Given the description of an element on the screen output the (x, y) to click on. 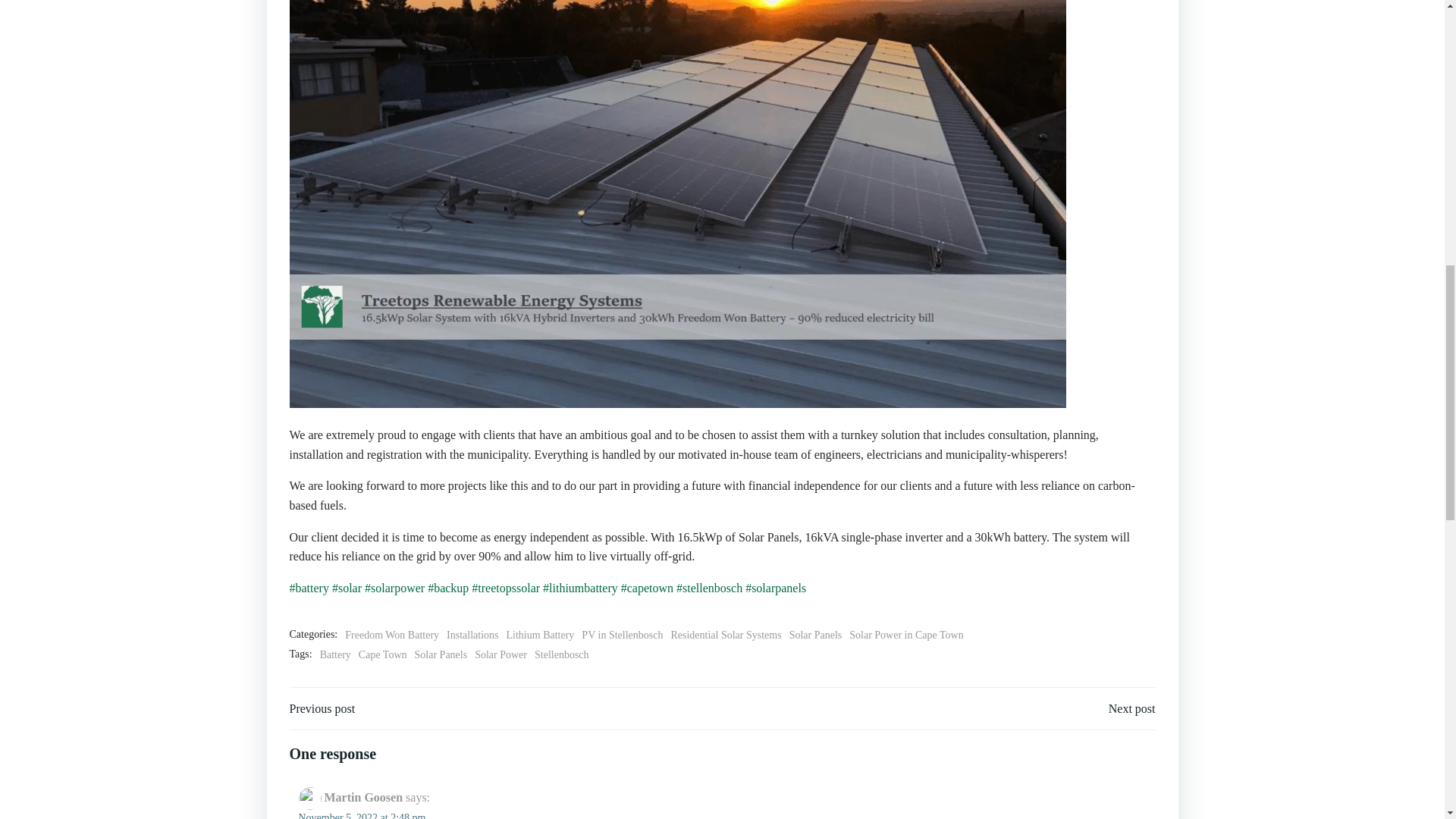
Cape Town Tag (382, 655)
Battery Tag (335, 655)
Stellenbosch Tag (561, 655)
Solar Power Tag (500, 655)
Solar Panels Tag (440, 655)
